Given the description of an element on the screen output the (x, y) to click on. 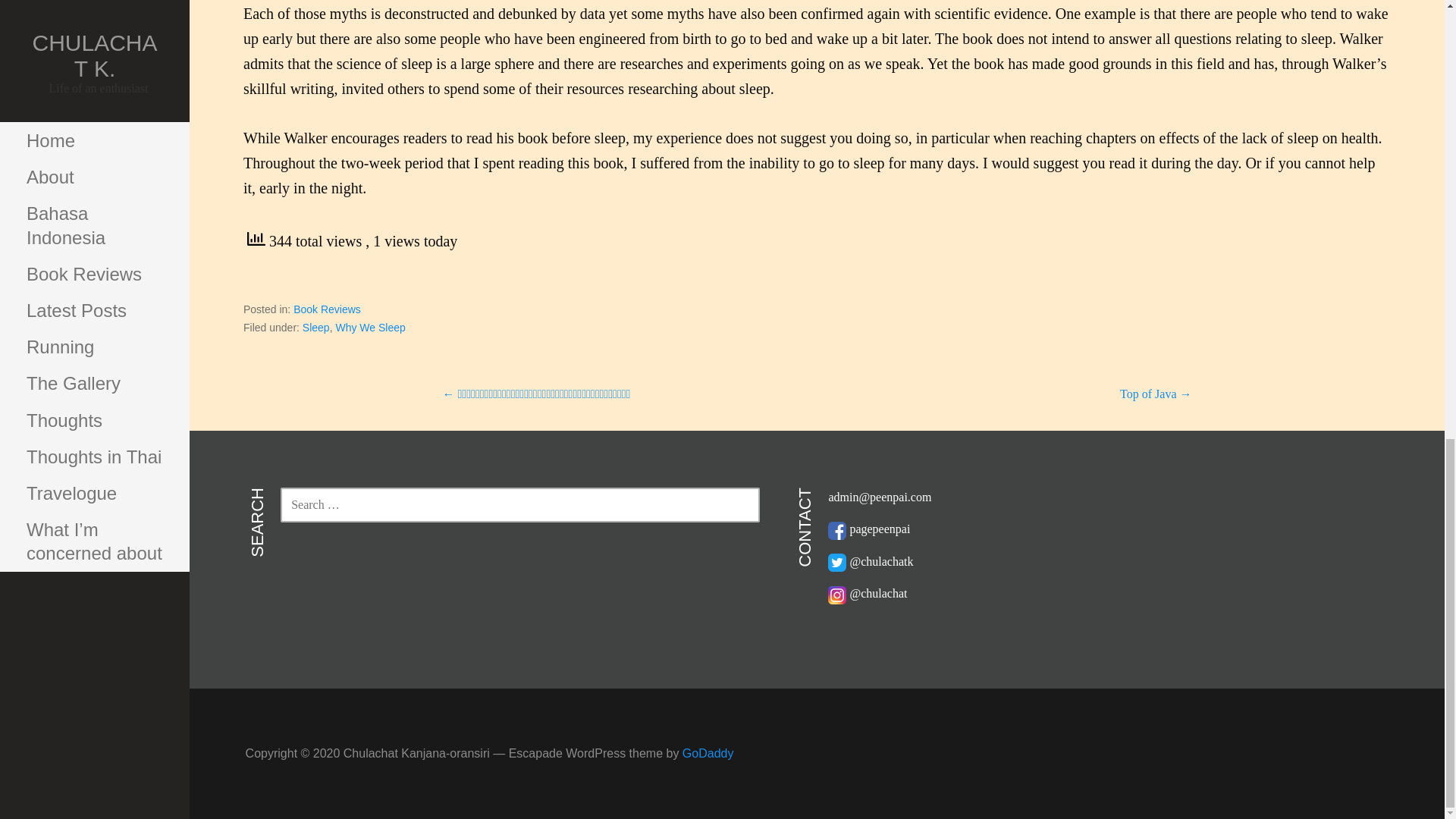
Book Reviews (327, 309)
Why We Sleep (369, 327)
Sleep (316, 327)
GoDaddy (707, 753)
